Given the description of an element on the screen output the (x, y) to click on. 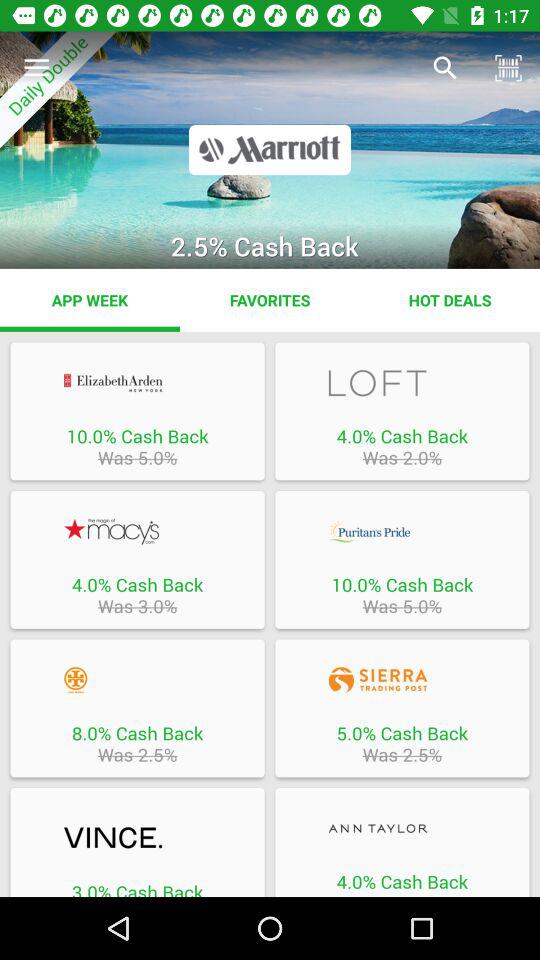
tap the favorites app (270, 299)
